Given the description of an element on the screen output the (x, y) to click on. 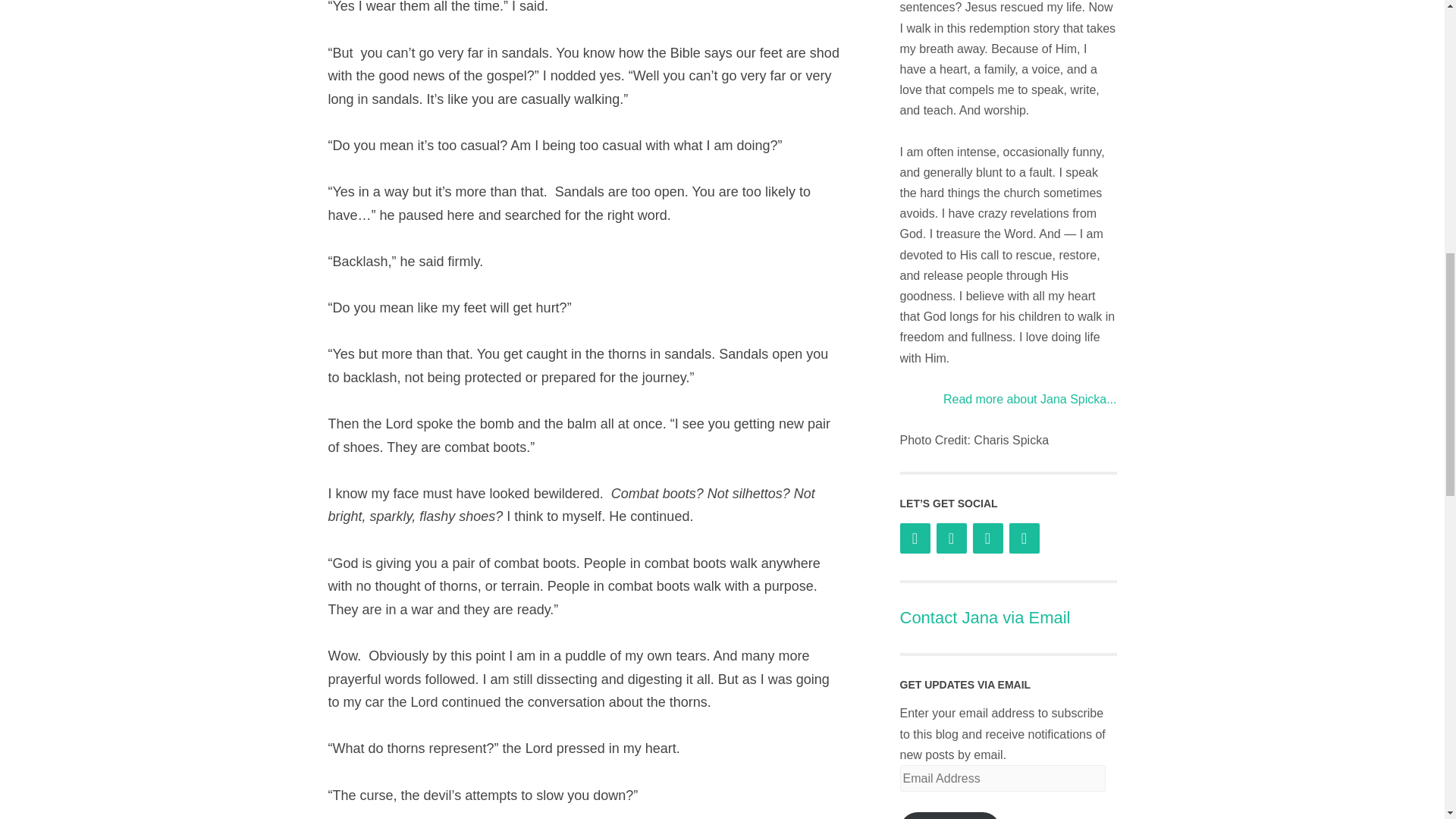
Facebook (914, 538)
Read more about Jana Spicka... (1029, 399)
LinkedIn (987, 538)
RSS (1024, 538)
Subscribe (948, 815)
Twitter (951, 538)
Contact Jana via Email (984, 617)
